Given the description of an element on the screen output the (x, y) to click on. 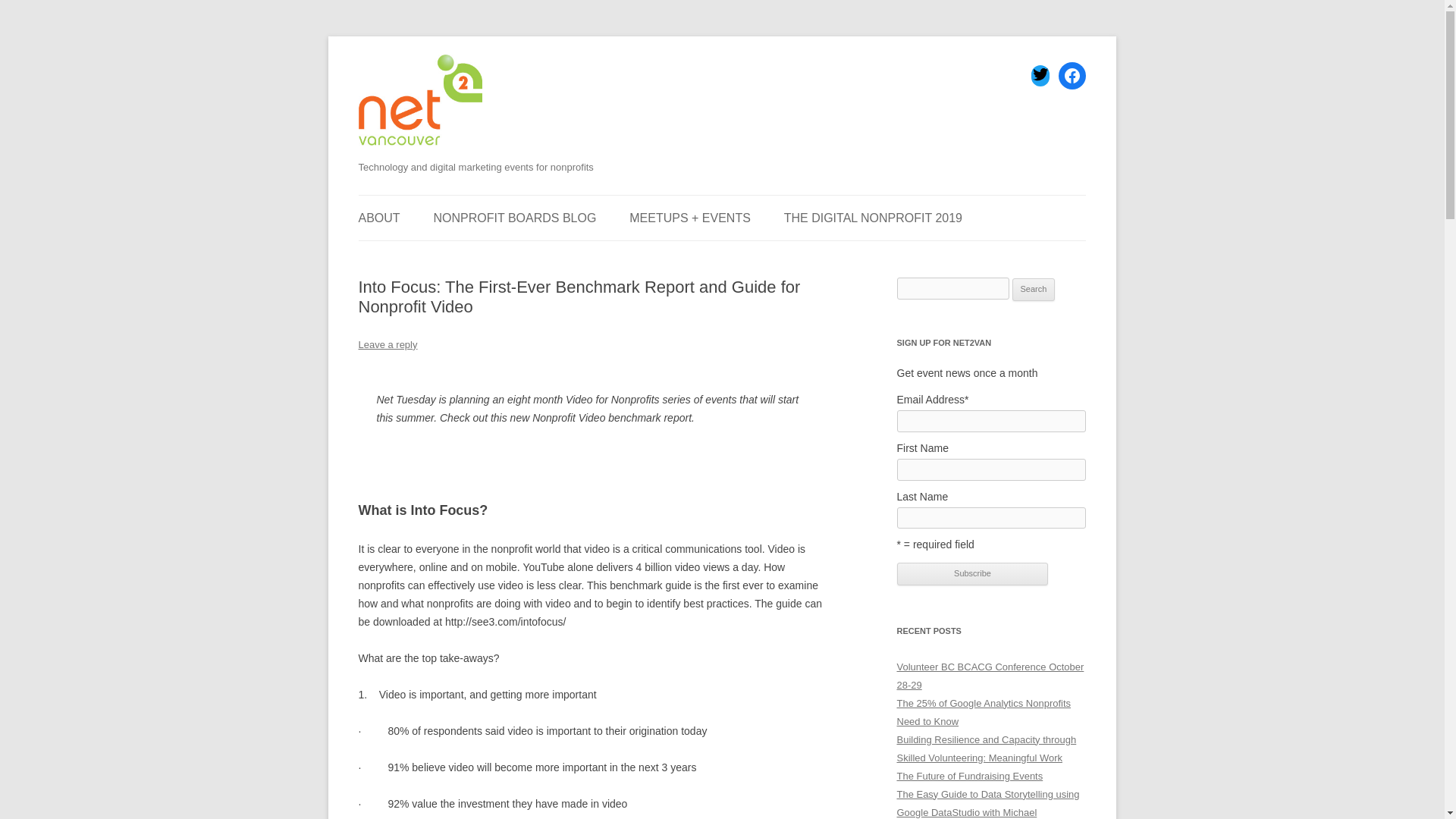
Subscribe (972, 573)
Leave a reply (387, 344)
SUGGEST AN EVENT (433, 255)
The Future of Fundraising Events (969, 776)
THE DIGITAL NONPROFIT 2019 (873, 217)
ABOUT (378, 217)
